Given the description of an element on the screen output the (x, y) to click on. 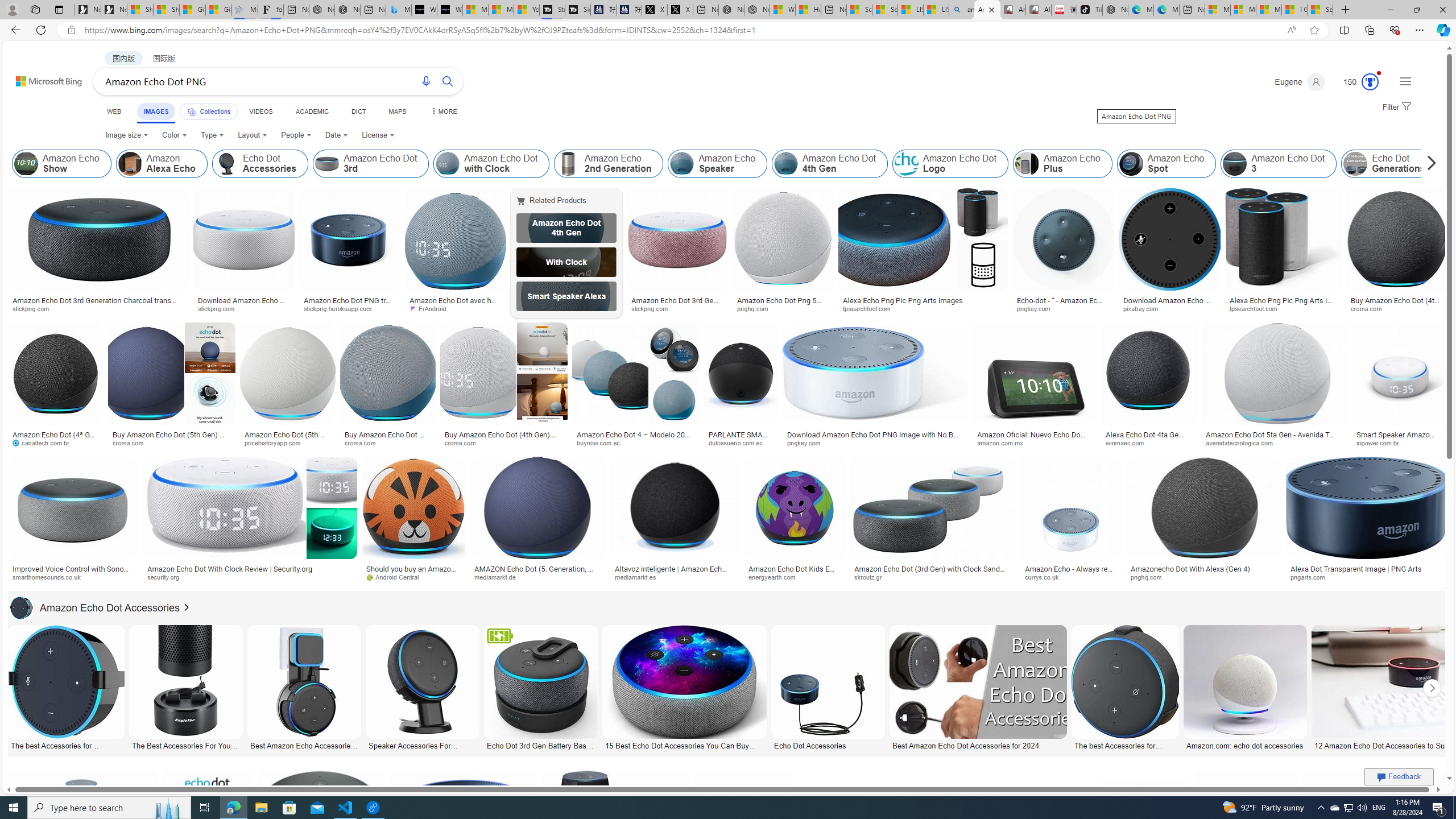
Amazon Echo 2nd Generation (608, 163)
Alexa Dot Transparent Image | PNG Arts (1366, 568)
Amazon Echo Dot Png 542 Download (783, 303)
amazon.com.mx (1034, 442)
